Given the description of an element on the screen output the (x, y) to click on. 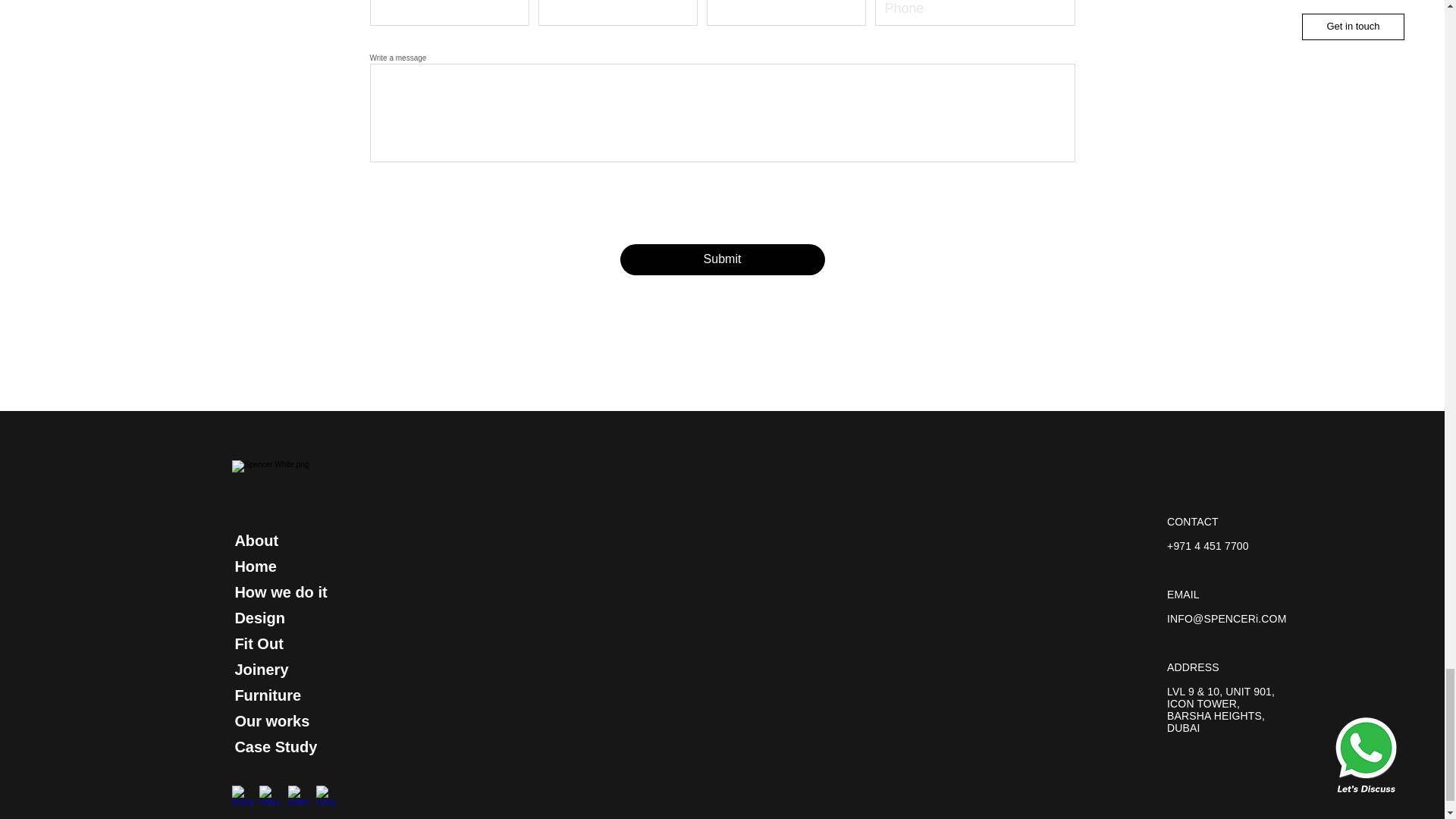
Home (255, 566)
How we do it (280, 591)
Case Study (275, 746)
Furniture (267, 694)
About (256, 540)
BARSHA HEIGHTS, (1216, 715)
Design (259, 617)
Submit (722, 259)
Fit Out (258, 643)
Joinery (261, 669)
Our works (272, 721)
